Given the description of an element on the screen output the (x, y) to click on. 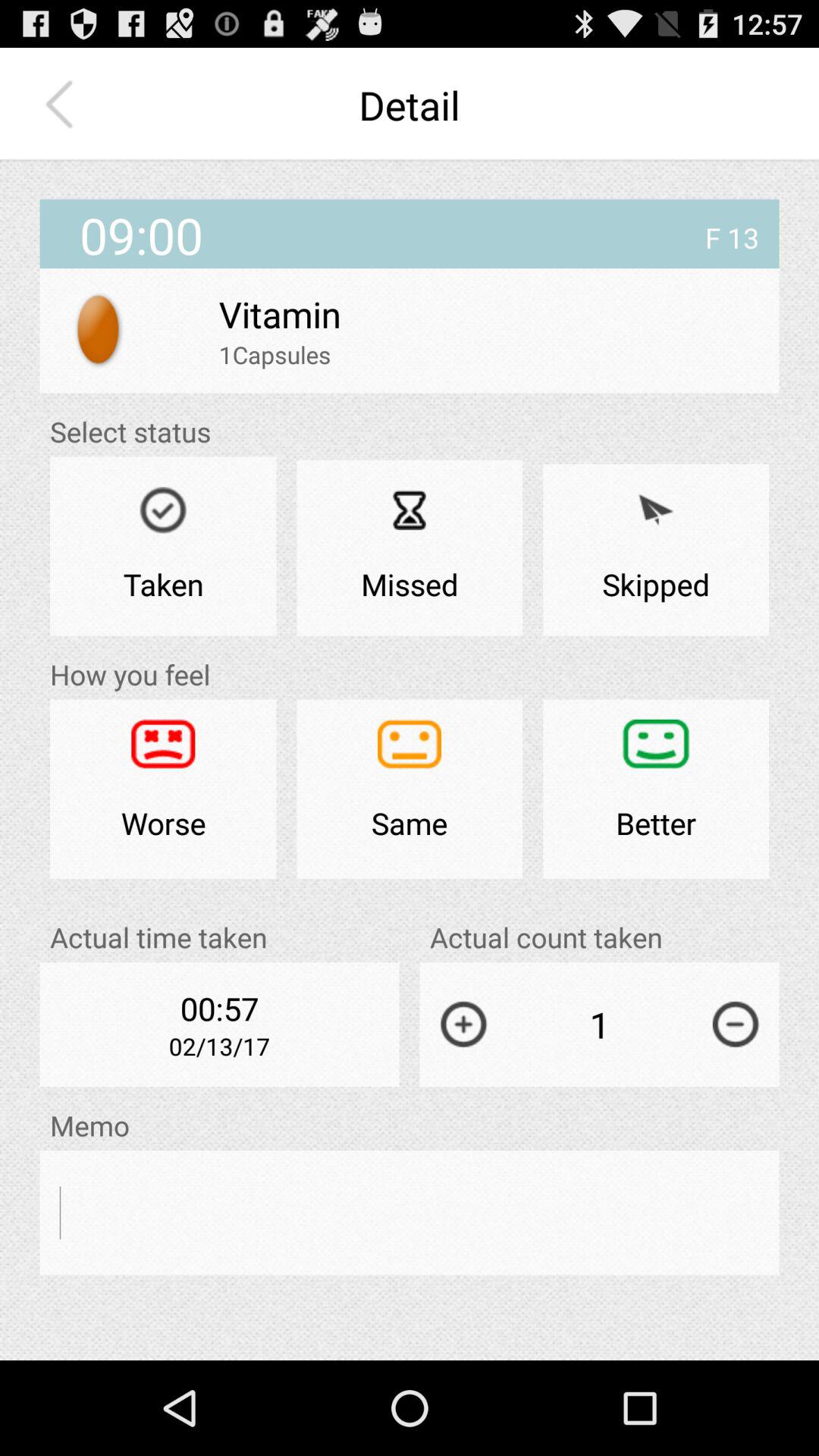
select icon above the actual time taken app (163, 788)
